Given the description of an element on the screen output the (x, y) to click on. 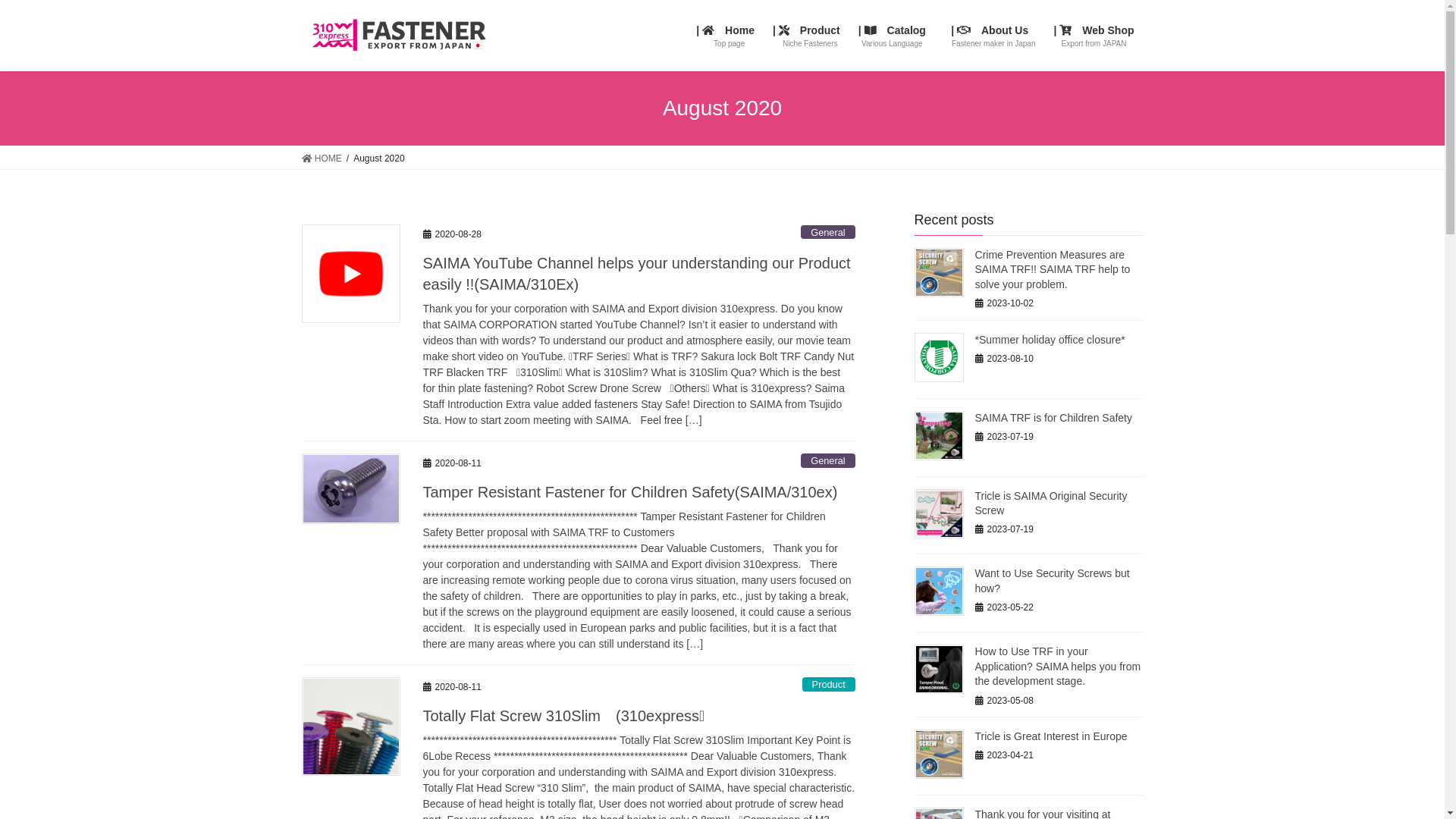
Tricle is Great Interest in Europe Element type: text (1051, 736)
Tamper Resistant Fastener for Children Safety(SAIMA/310ex) Element type: text (630, 491)
Tricle is SAIMA Original Security Screw Element type: text (1051, 503)
Product Element type: text (828, 684)
HOME Element type: text (321, 157)
Want to Use Security Screws but how? Element type: text (1052, 580)
General Element type: text (827, 460)
General Element type: text (827, 232)
*Summer holiday office closure* Element type: text (1050, 339)
SAIMA TRF is for Children Safety Element type: text (1053, 417)
